Given the description of an element on the screen output the (x, y) to click on. 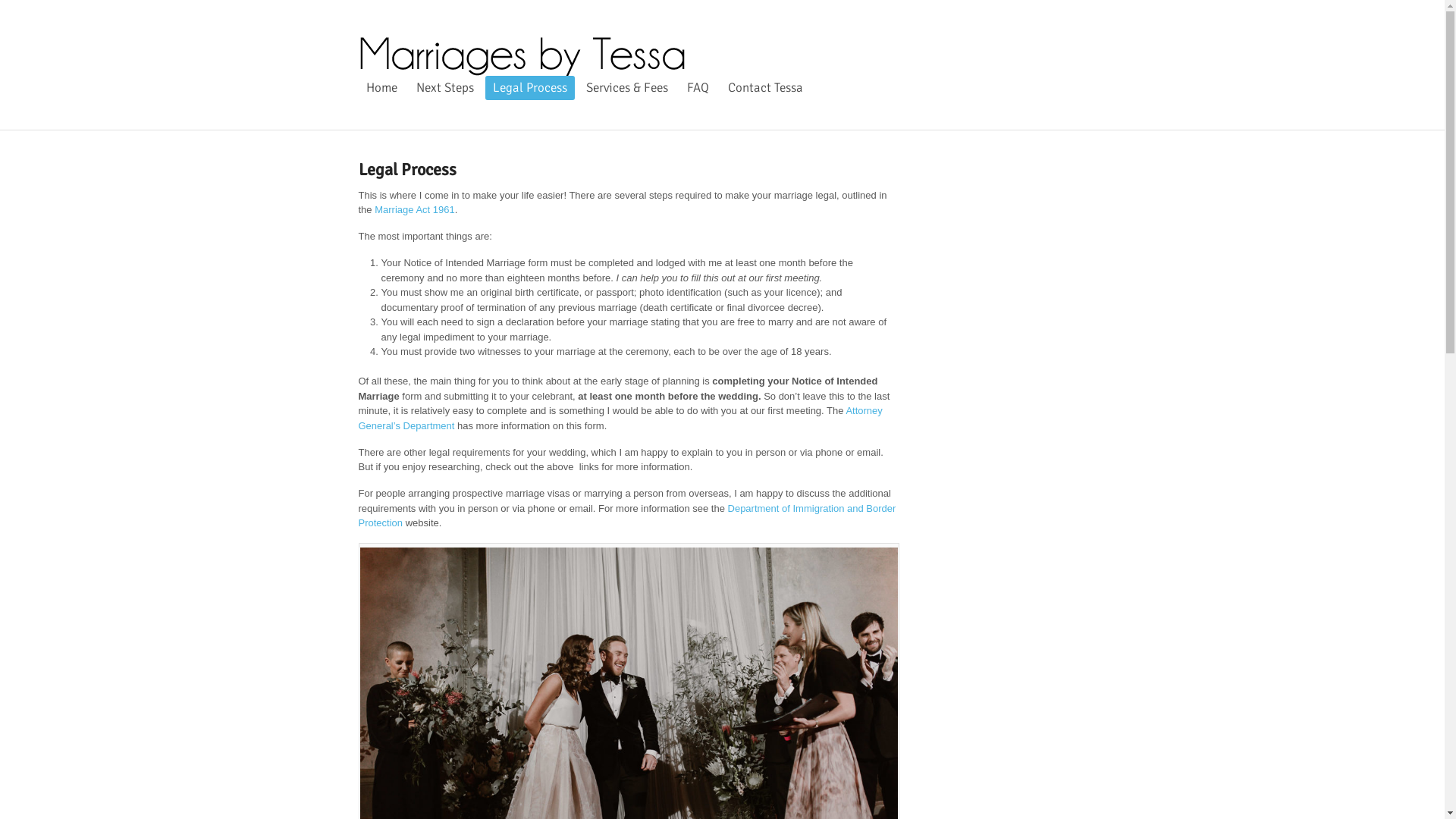
FAQ Element type: text (697, 87)
Department of Immigration and Border Protection Element type: text (626, 515)
Next Steps Element type: text (443, 87)
Services & Fees Element type: text (625, 87)
Legal Process Element type: text (529, 87)
Contact Tessa Element type: text (765, 87)
Marriage Act 1961 Element type: text (414, 209)
Home Element type: text (380, 87)
